Given the description of an element on the screen output the (x, y) to click on. 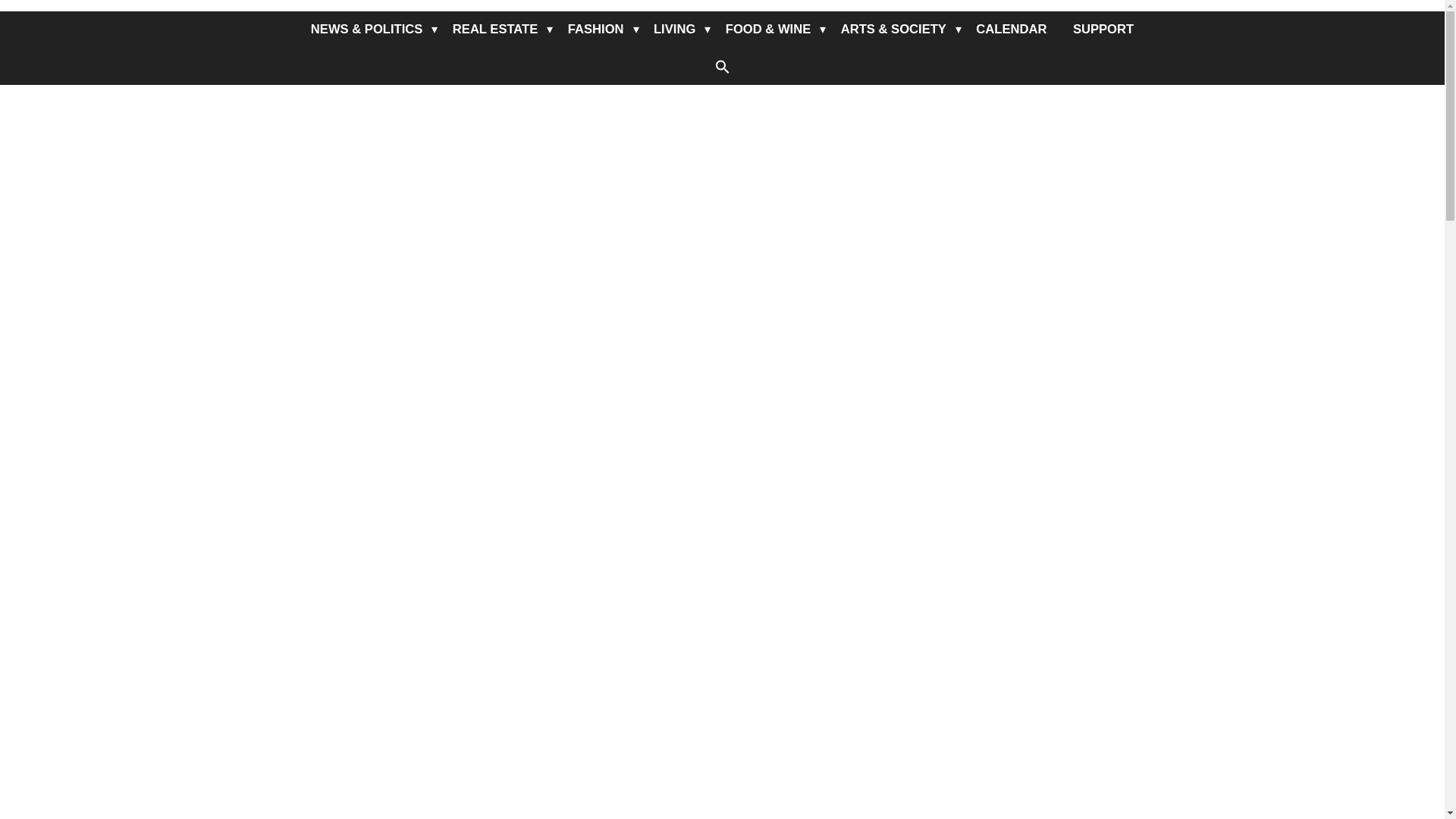
FASHION (595, 29)
REAL ESTATE (494, 29)
Posts by Georgetowner (349, 772)
CALENDAR (1010, 29)
LIVING (674, 29)
SUPPORT (1102, 29)
